Given the description of an element on the screen output the (x, y) to click on. 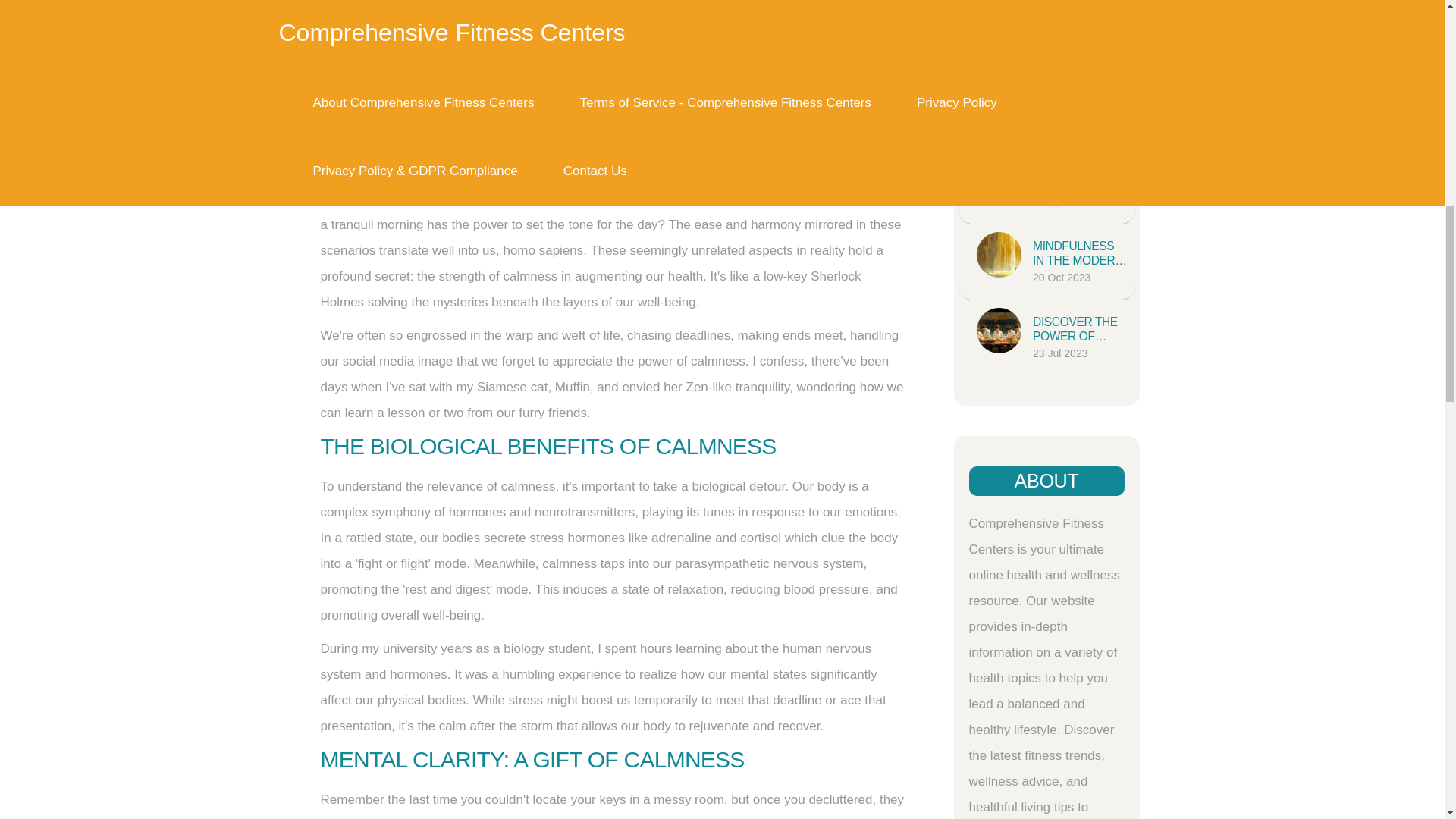
EFFECTIVE STRATEGIES FOR OVERCOMING HEALTH ANXIETY (1079, 102)
MINDFULNESS IN THE MODERN WORLD: A NECESSARY PRACTICE (1079, 253)
STRESS REDUCTION: THE ULTIMATE LIFE HACK (1079, 26)
HOW TO MAXIMIZE YOUR TRAINING WITH SPORTS MASSAGE (1079, 177)
